Given the description of an element on the screen output the (x, y) to click on. 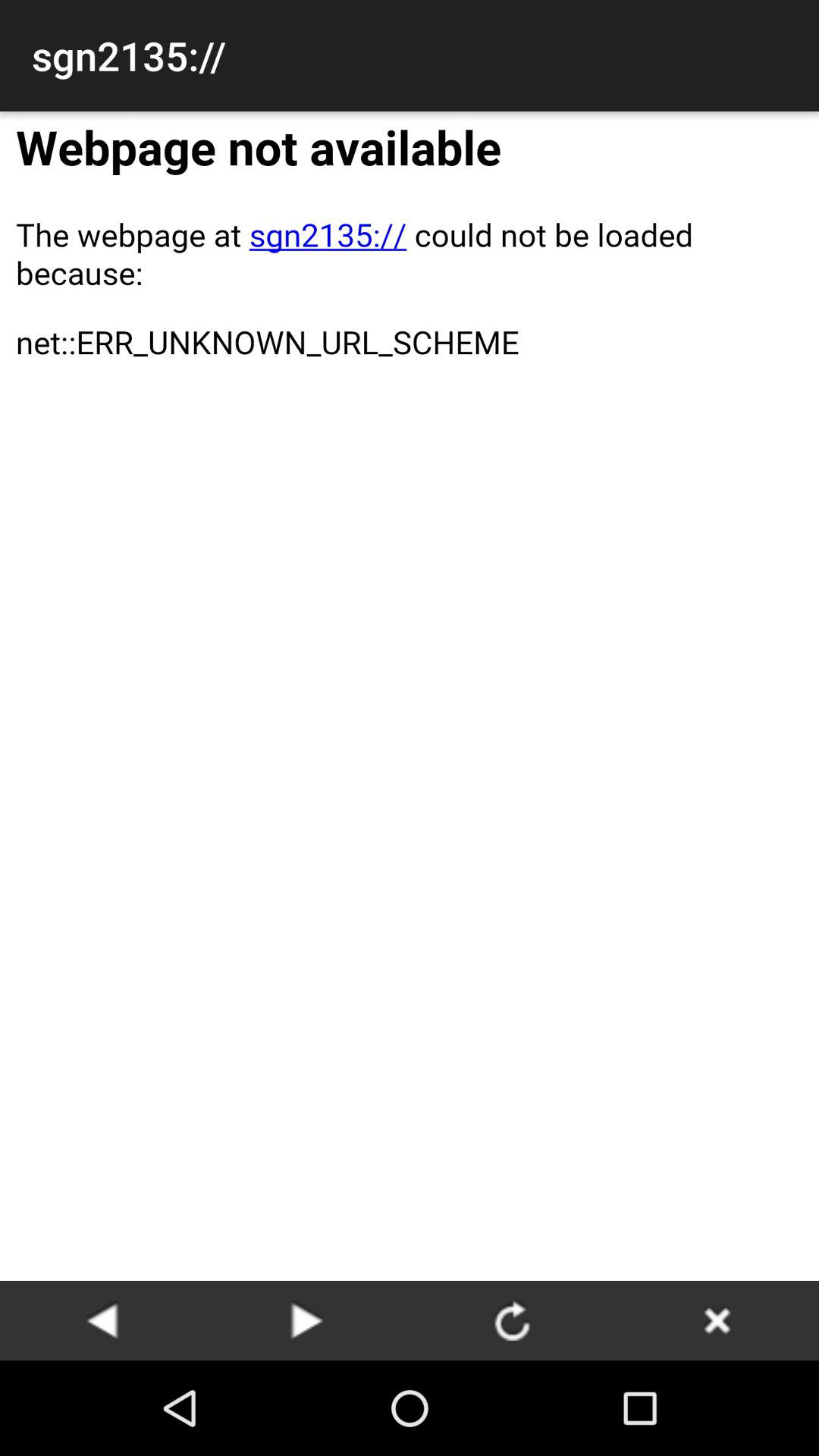
move forward (306, 1320)
